Given the description of an element on the screen output the (x, y) to click on. 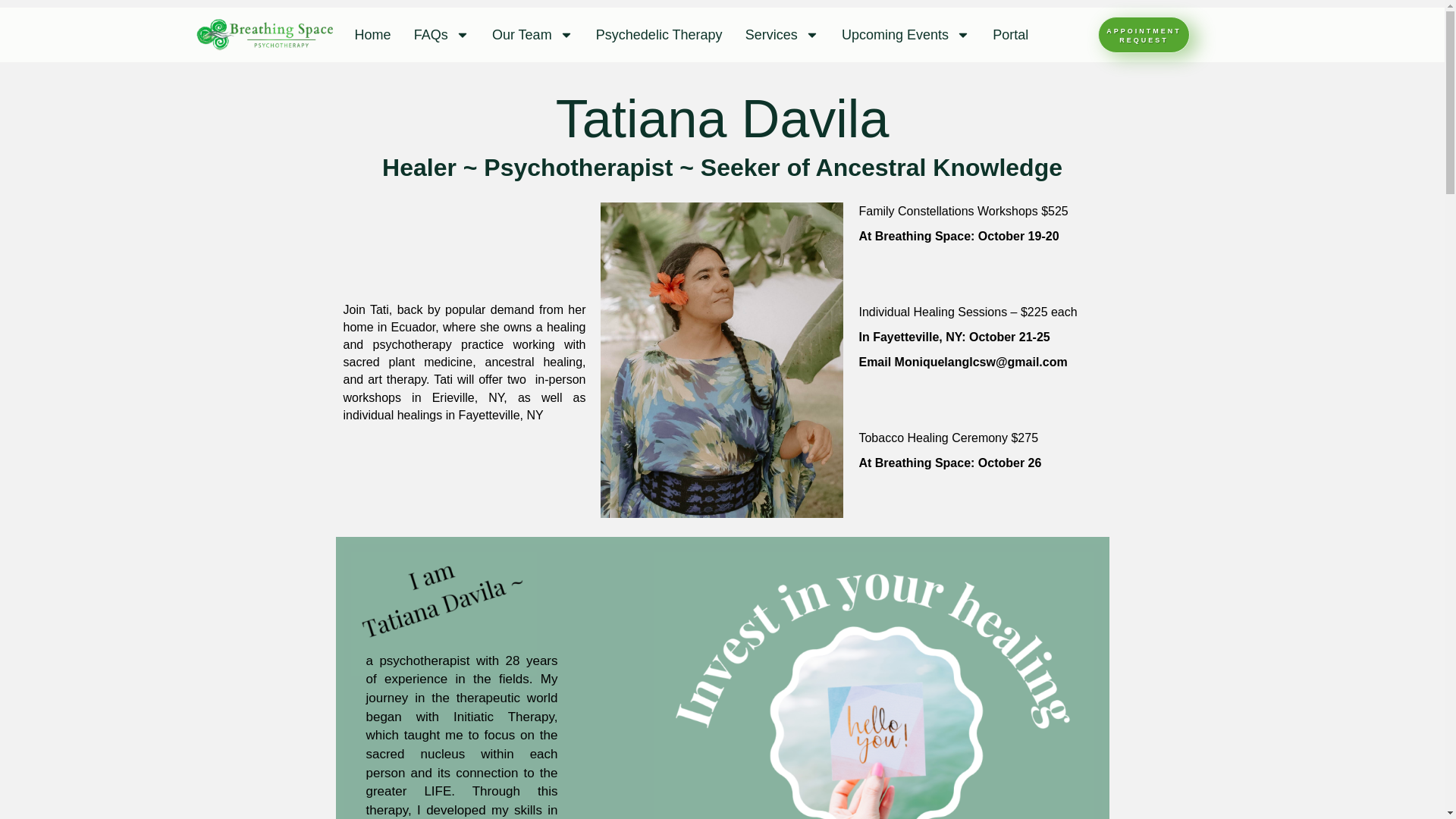
FAQs (441, 34)
Psychedelic Therapy (659, 34)
Services (781, 34)
Home (372, 34)
Portal (1010, 34)
Our Team (531, 34)
Upcoming Events (904, 34)
